Given the description of an element on the screen output the (x, y) to click on. 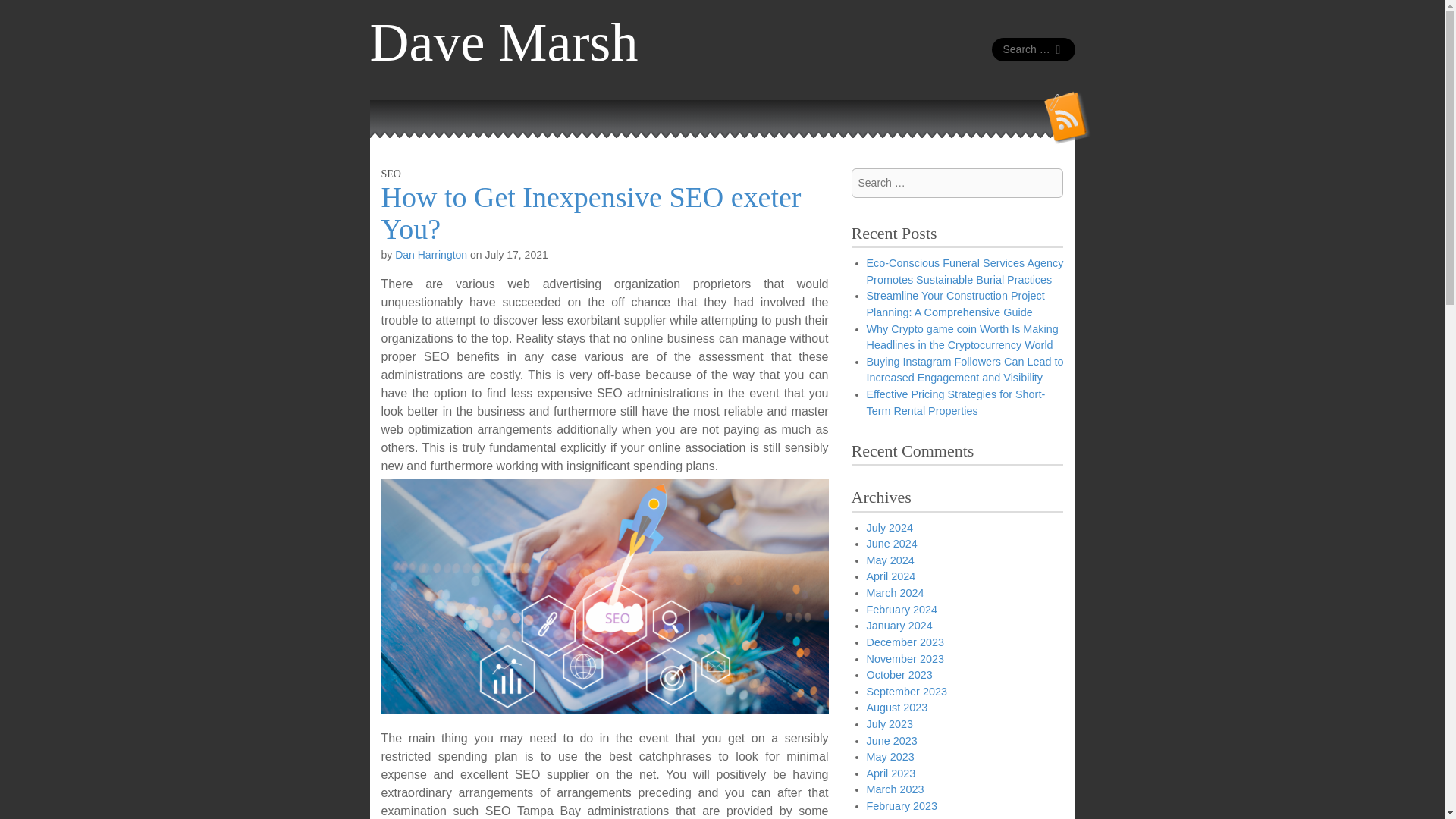
March 2023 (894, 788)
May 2024 (890, 560)
May 2023 (890, 756)
January 2023 (898, 817)
February 2024 (901, 609)
January 2024 (898, 625)
Dave Marsh (504, 42)
March 2024 (894, 592)
Posts by Dan Harrington (430, 254)
SEO (390, 173)
July 2024 (889, 527)
Search (23, 14)
